Given the description of an element on the screen output the (x, y) to click on. 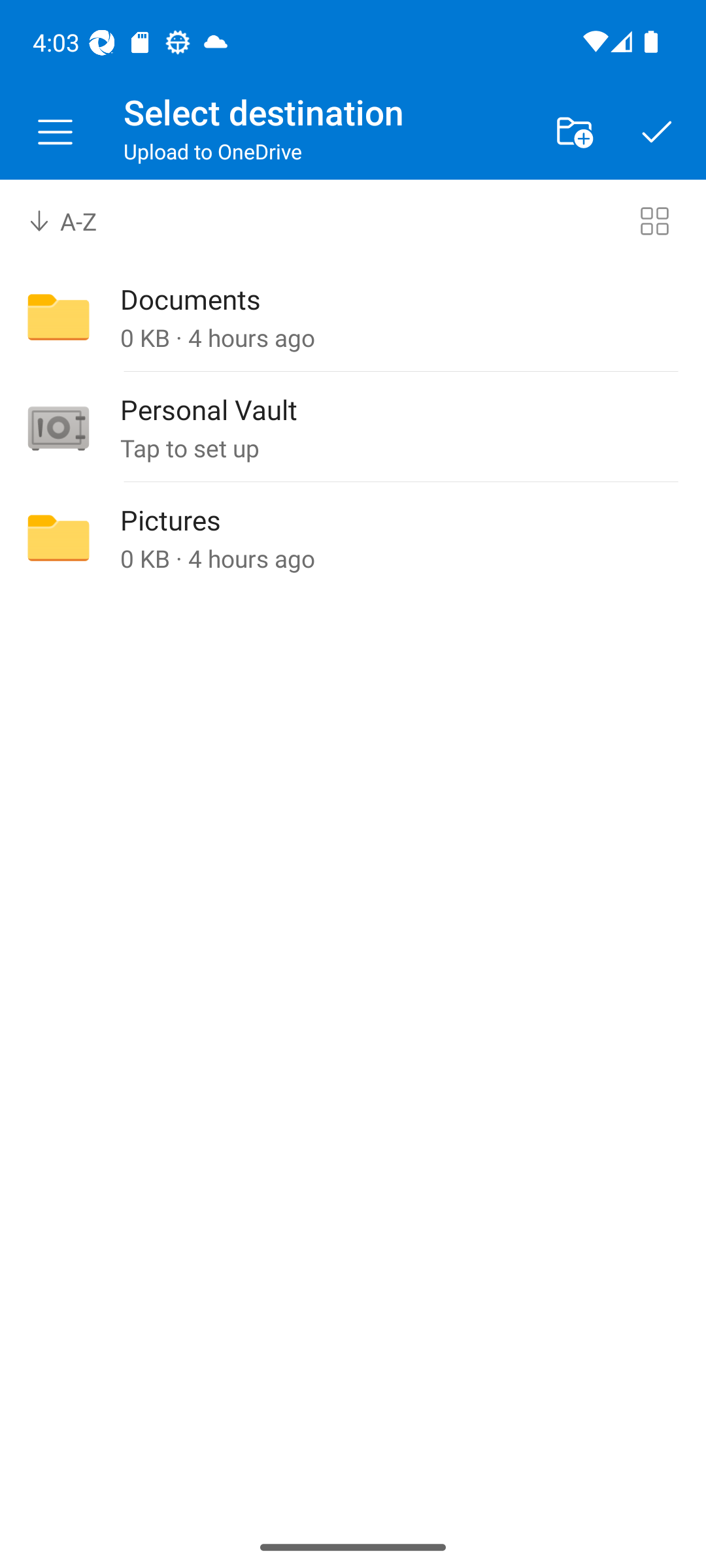
Navigate up (55, 131)
More actions button (574, 131)
SAVE HERE (656, 131)
A-Z Sort by combo box, sort by name, A to Z (76, 220)
Switch to tiles view (654, 220)
Folder Documents 0 KB · 4 hours ago (353, 317)
Folder Personal Vault Tap to set up (353, 427)
Folder Pictures 0 KB · 4 hours ago (353, 537)
